Given the description of an element on the screen output the (x, y) to click on. 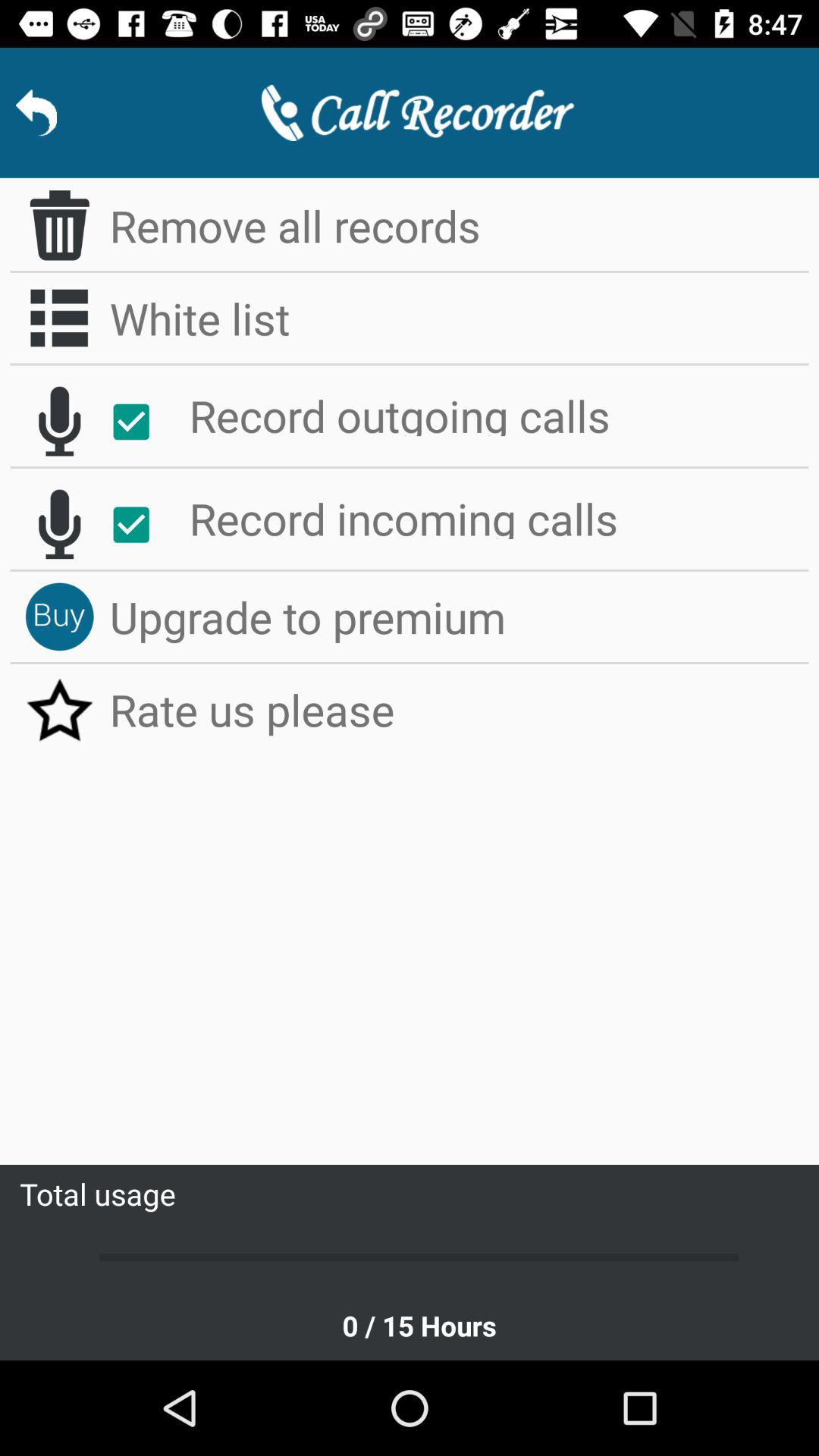
allow outgoing calls recording (139, 421)
